Given the description of an element on the screen output the (x, y) to click on. 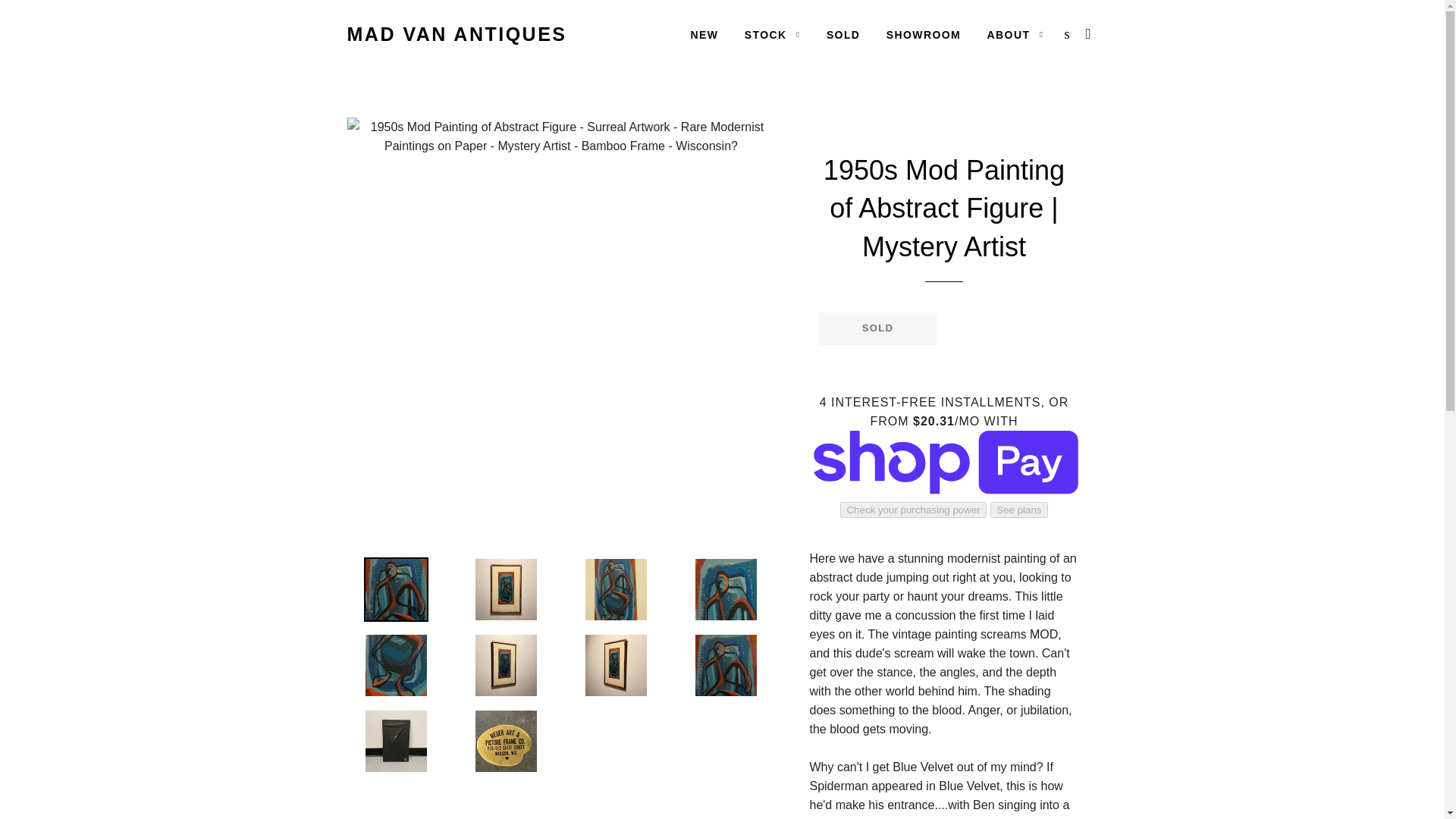
STOCK (772, 35)
NEW (703, 35)
MAD VAN ANTIQUES (457, 34)
